Given the description of an element on the screen output the (x, y) to click on. 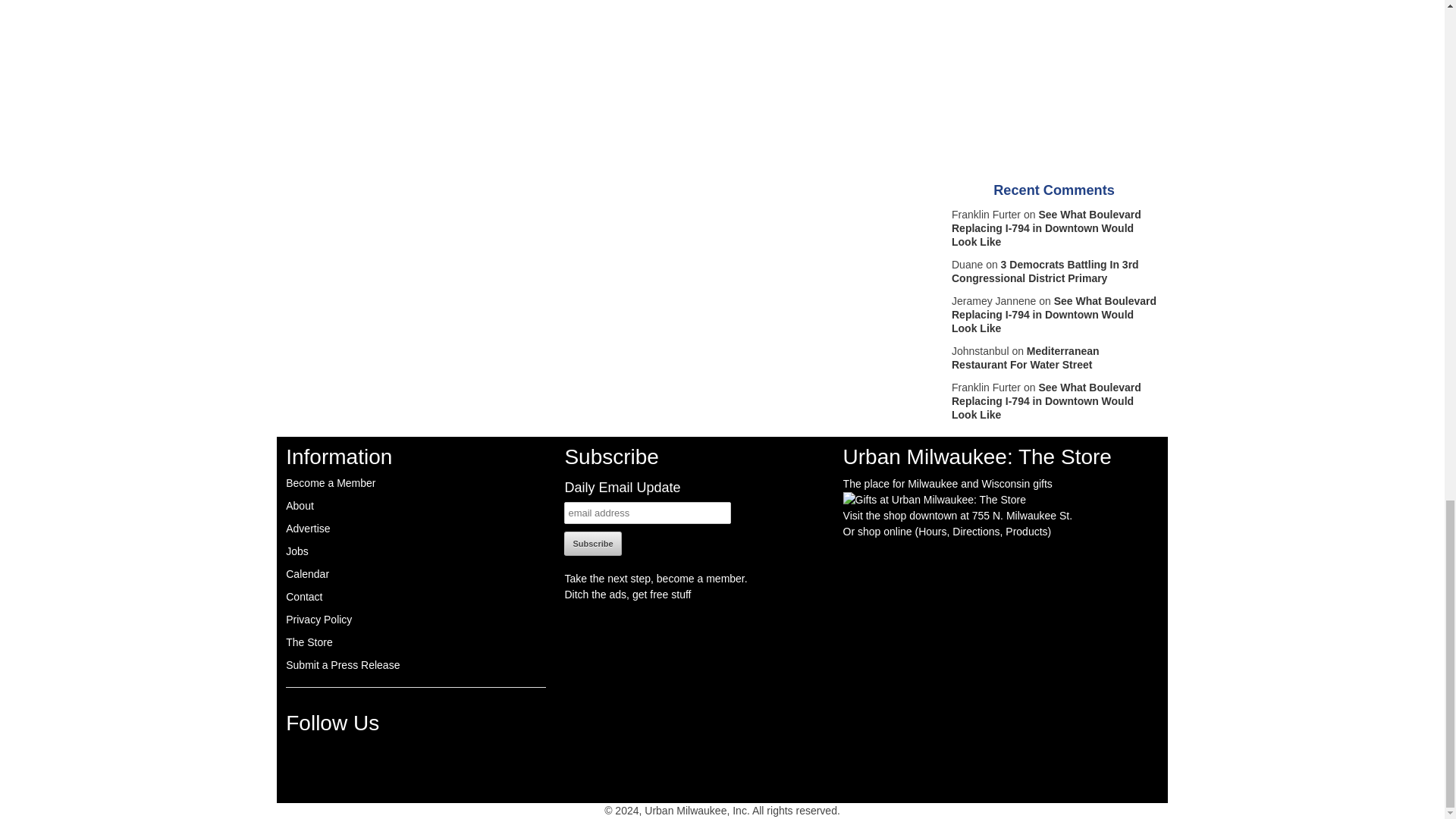
Subscribe (592, 543)
